Given the description of an element on the screen output the (x, y) to click on. 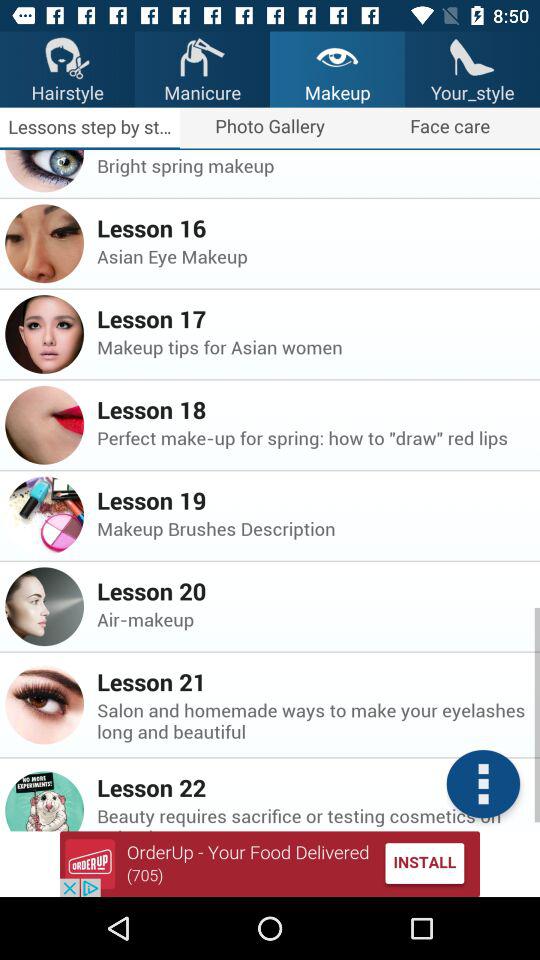
gallery tool boy (483, 784)
